Given the description of an element on the screen output the (x, y) to click on. 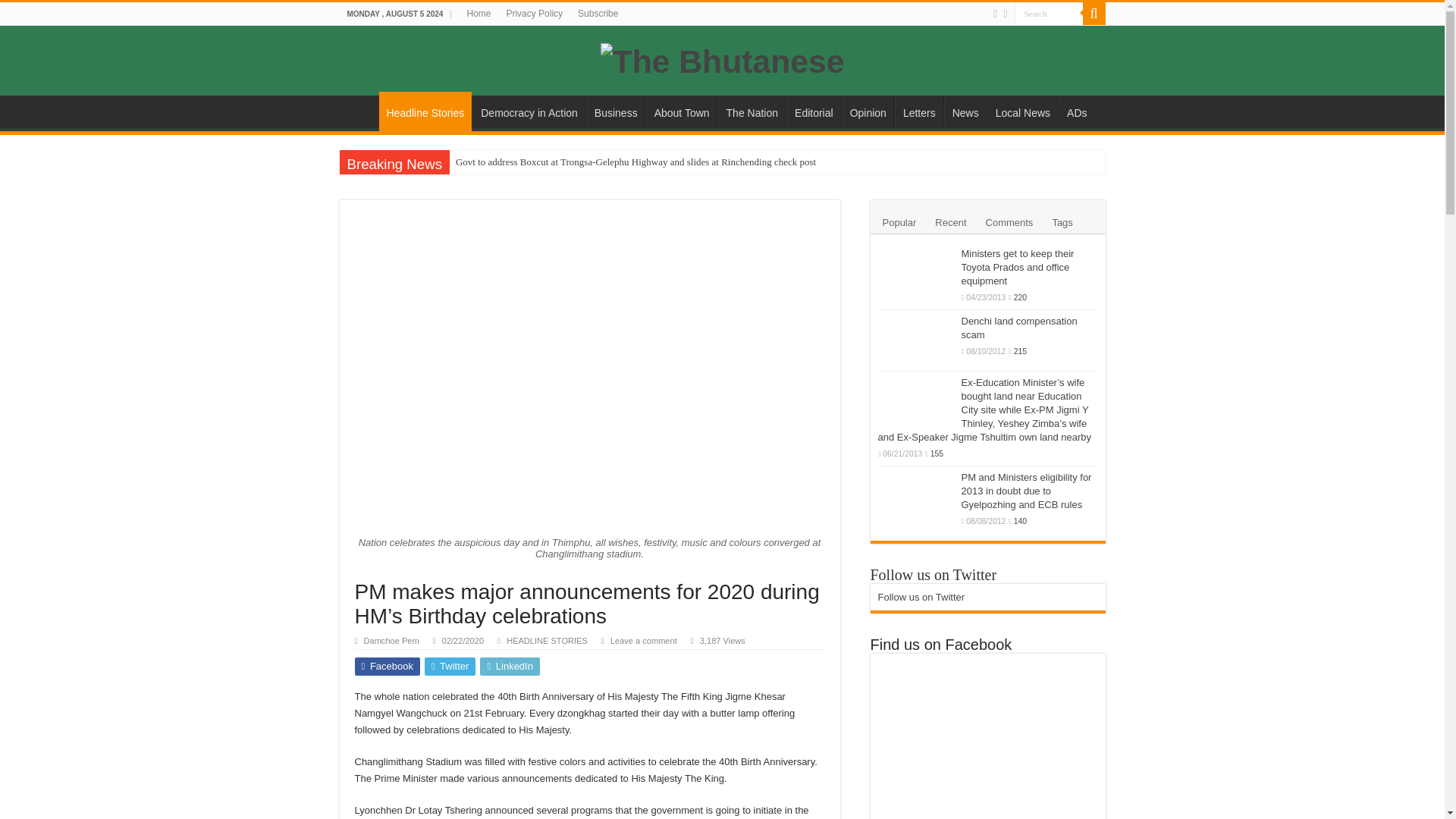
Local News (1022, 111)
HOME (358, 111)
Facebook (387, 666)
Search (1048, 13)
Democracy in Action (528, 111)
Letters (919, 111)
Damchoe Pem (391, 640)
Privacy Policy (533, 13)
Headline Stories (424, 111)
Home (477, 13)
ADs (1076, 111)
Search (1048, 13)
Leave a comment (643, 640)
Business (615, 111)
